Given the description of an element on the screen output the (x, y) to click on. 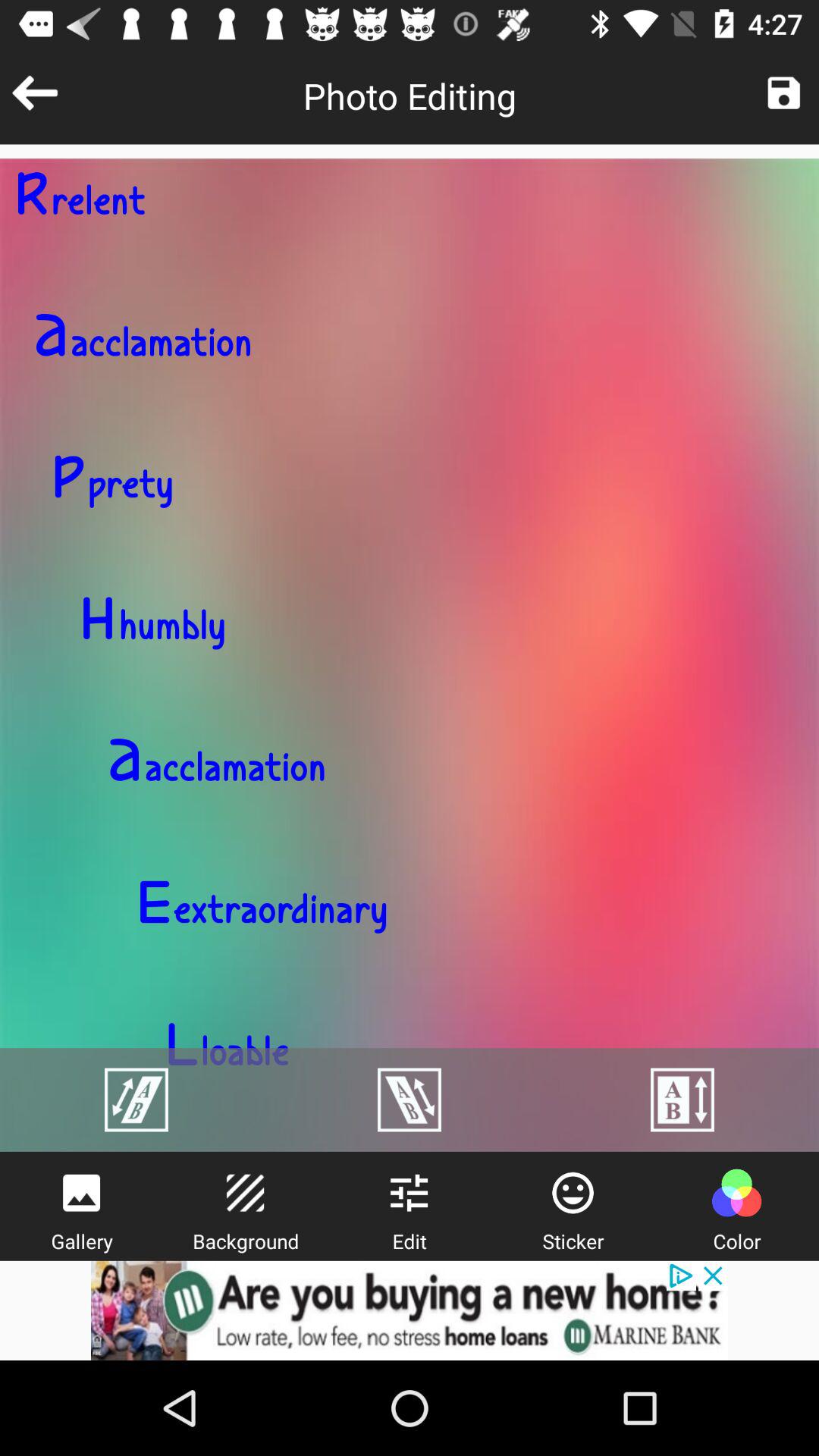
change text color (736, 1192)
